Given the description of an element on the screen output the (x, y) to click on. 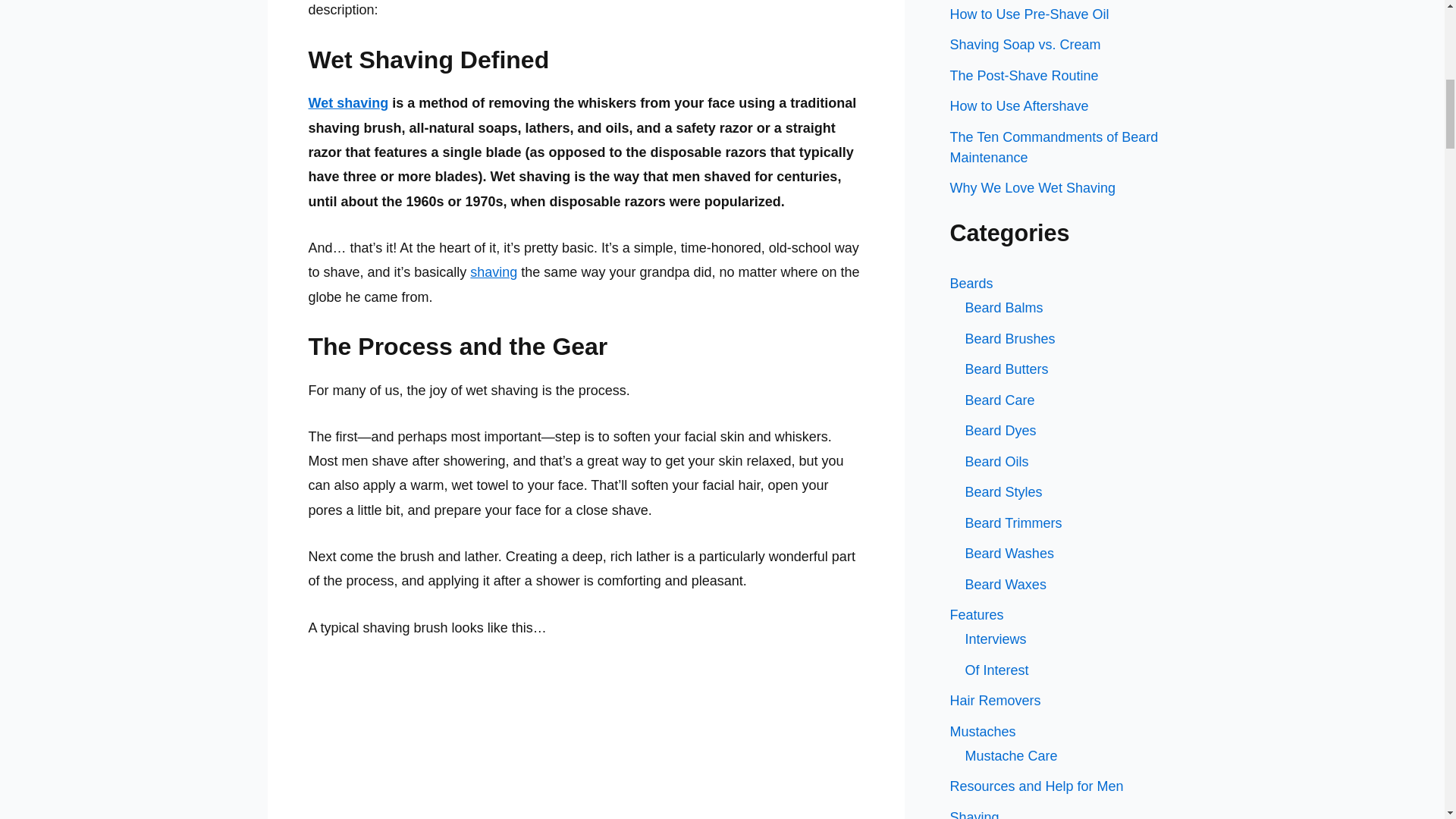
Wet shaving (347, 102)
shaving (493, 272)
Shaving Brush -- Example (585, 740)
